Given the description of an element on the screen output the (x, y) to click on. 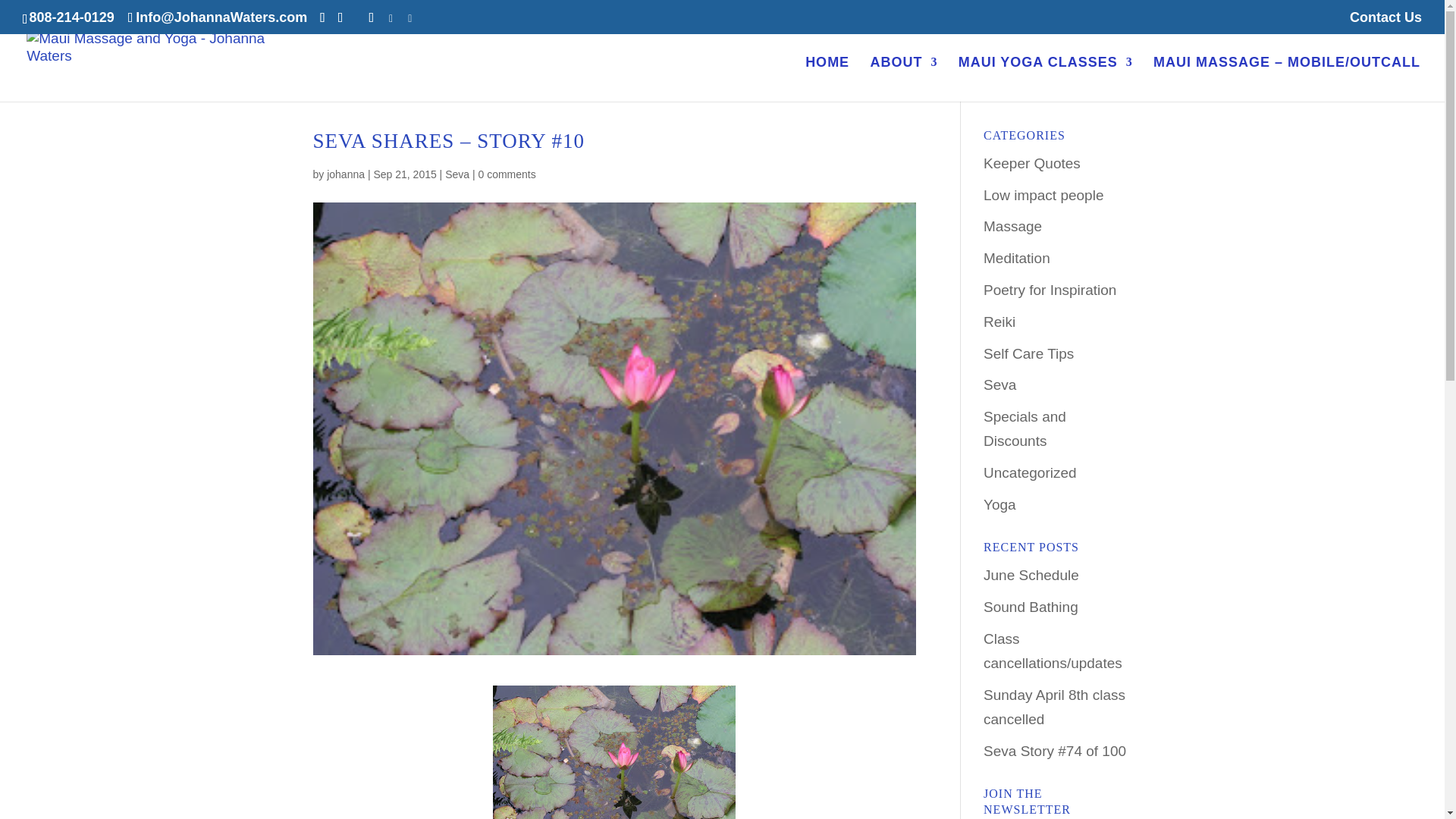
Self Care Tips (1029, 353)
Seva (1000, 384)
Specials and Discounts (1024, 428)
johanna (345, 174)
Poetry for Inspiration (1050, 289)
Seva (456, 174)
0 comments (506, 174)
MAUI YOGA CLASSES (1045, 78)
Uncategorized (1030, 472)
Reiki (999, 321)
